Given the description of an element on the screen output the (x, y) to click on. 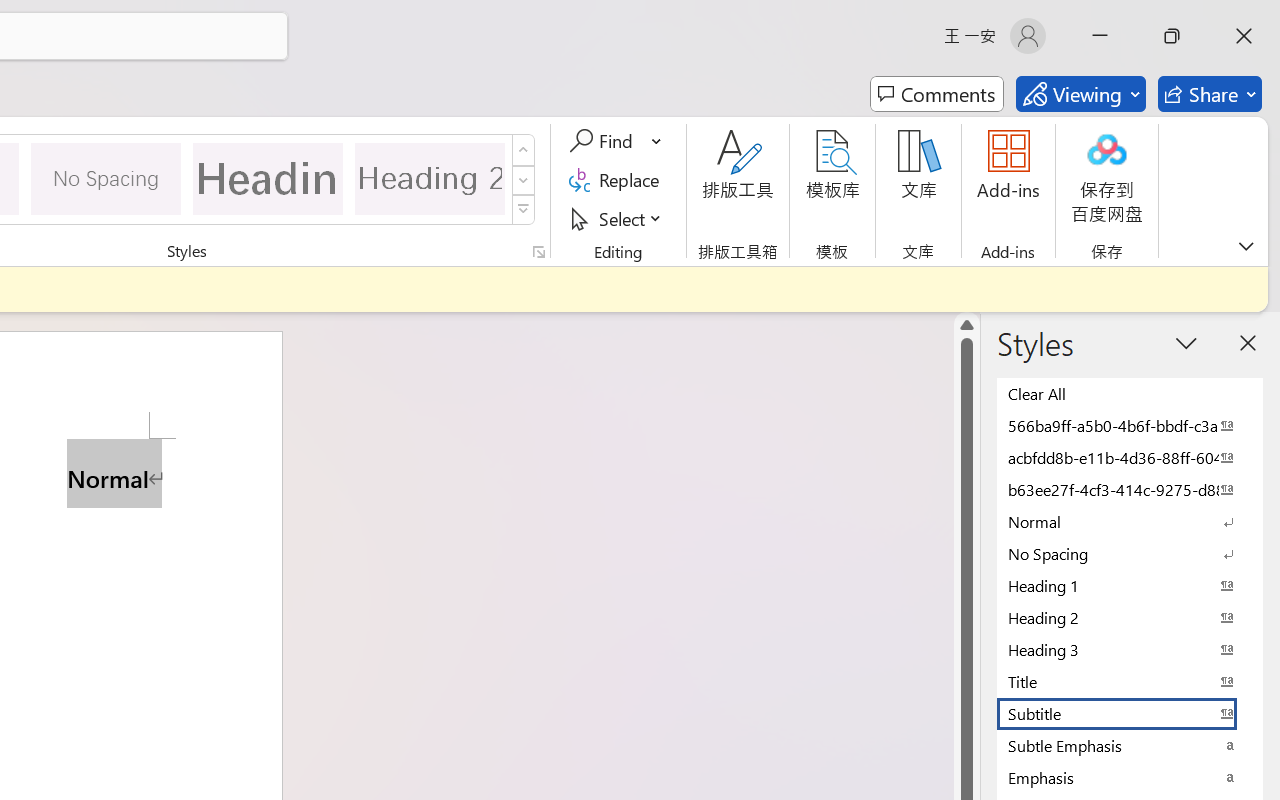
Styles... (538, 252)
Clear All (1130, 393)
Subtle Emphasis (1130, 745)
Select (618, 218)
No Spacing (1130, 553)
